Given the description of an element on the screen output the (x, y) to click on. 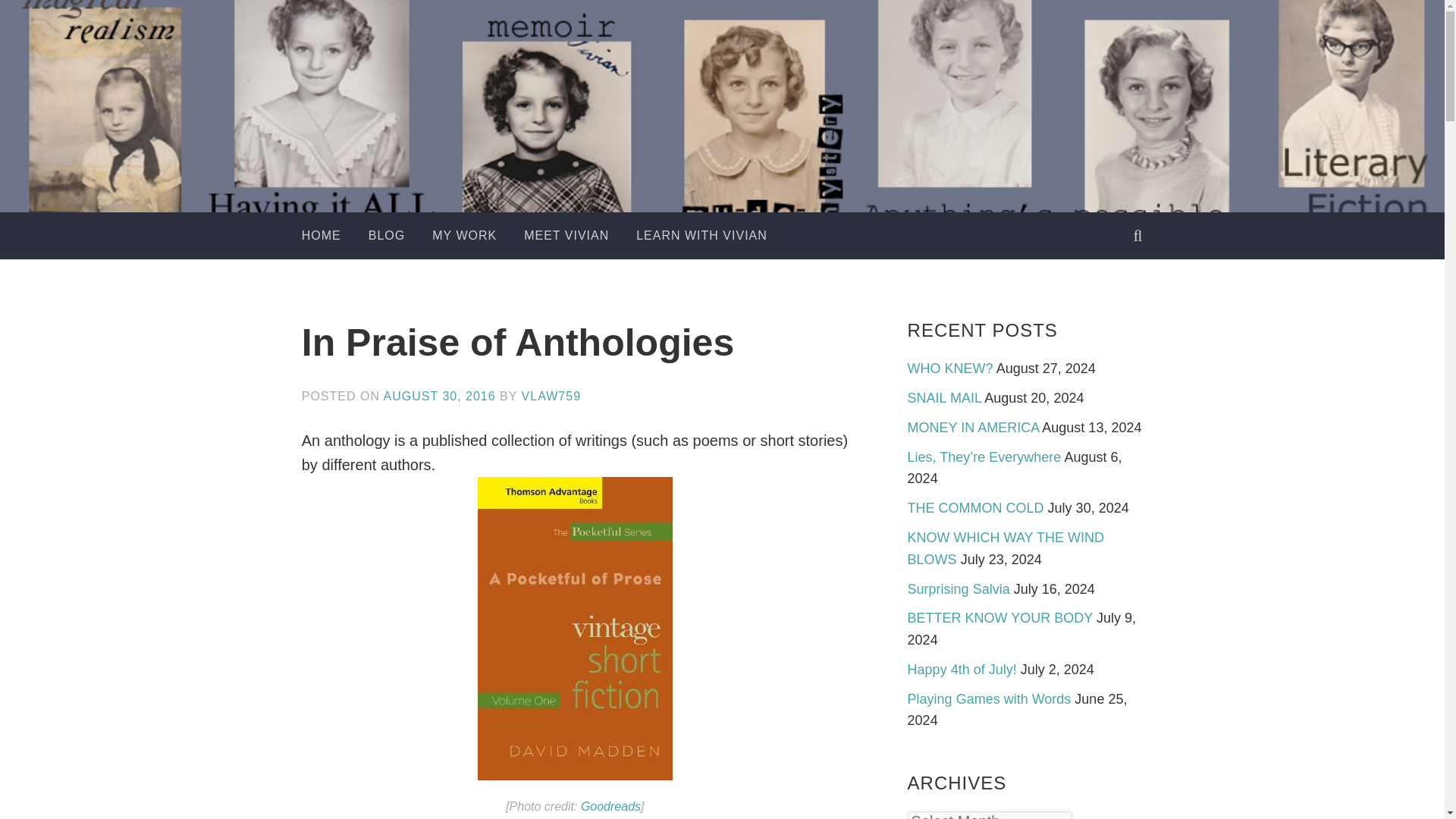
VLAW759 (550, 395)
AUGUST 30, 2016 (440, 395)
MEET VIVIAN (566, 235)
MY WORK (464, 235)
LEARN WITH VIVIAN (701, 235)
Vivian Lawry (783, 159)
Goodreads (610, 806)
